Given the description of an element on the screen output the (x, y) to click on. 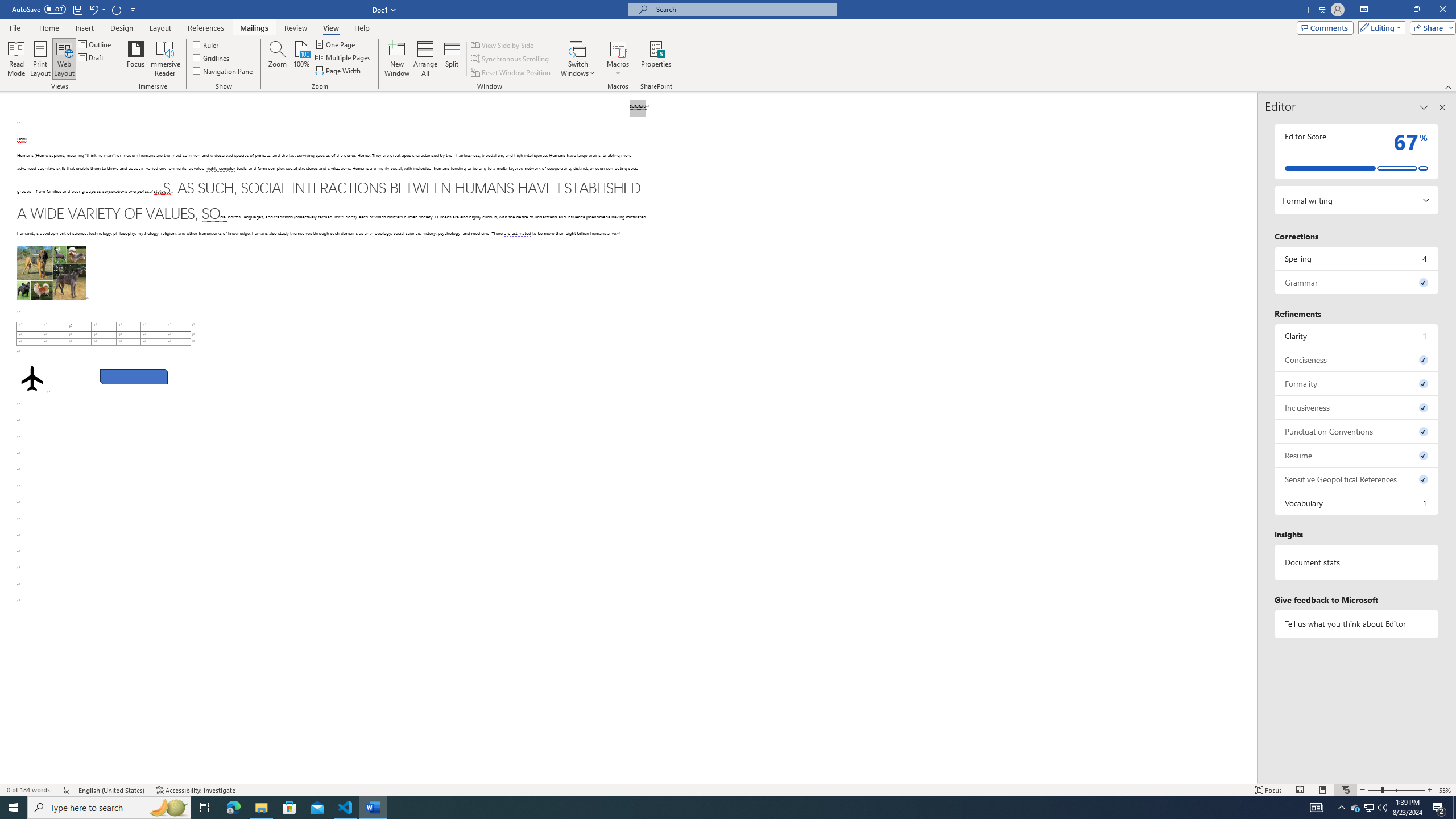
Undo Paragraph Alignment (96, 9)
Draft (91, 56)
Reset Window Position (511, 72)
Repeat Paragraph Alignment (117, 9)
Airplane with solid fill (31, 378)
Clarity, 1 issue. Press space or enter to review items. (1356, 335)
Macros (617, 58)
Word Count 0 of 184 words (28, 790)
